Given the description of an element on the screen output the (x, y) to click on. 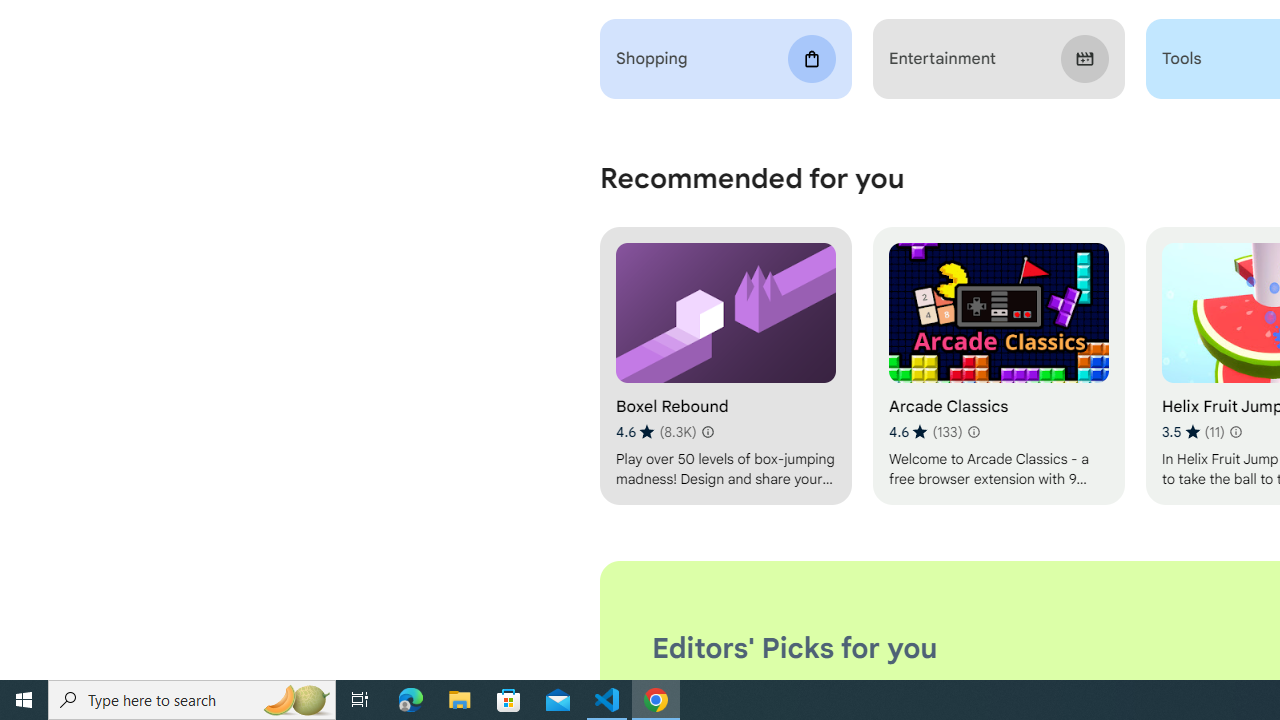
Average rating 3.5 out of 5 stars. 11 ratings. (1192, 431)
Average rating 4.6 out of 5 stars. 133 ratings. (925, 431)
Learn more about results and reviews "Arcade Classics" (972, 431)
Average rating 4.6 out of 5 stars. 8.3K ratings. (655, 431)
Shopping (725, 59)
Boxel Rebound (725, 366)
Learn more about results and reviews "Boxel Rebound" (707, 431)
Entertainment (998, 59)
Arcade Classics (998, 366)
